Given the description of an element on the screen output the (x, y) to click on. 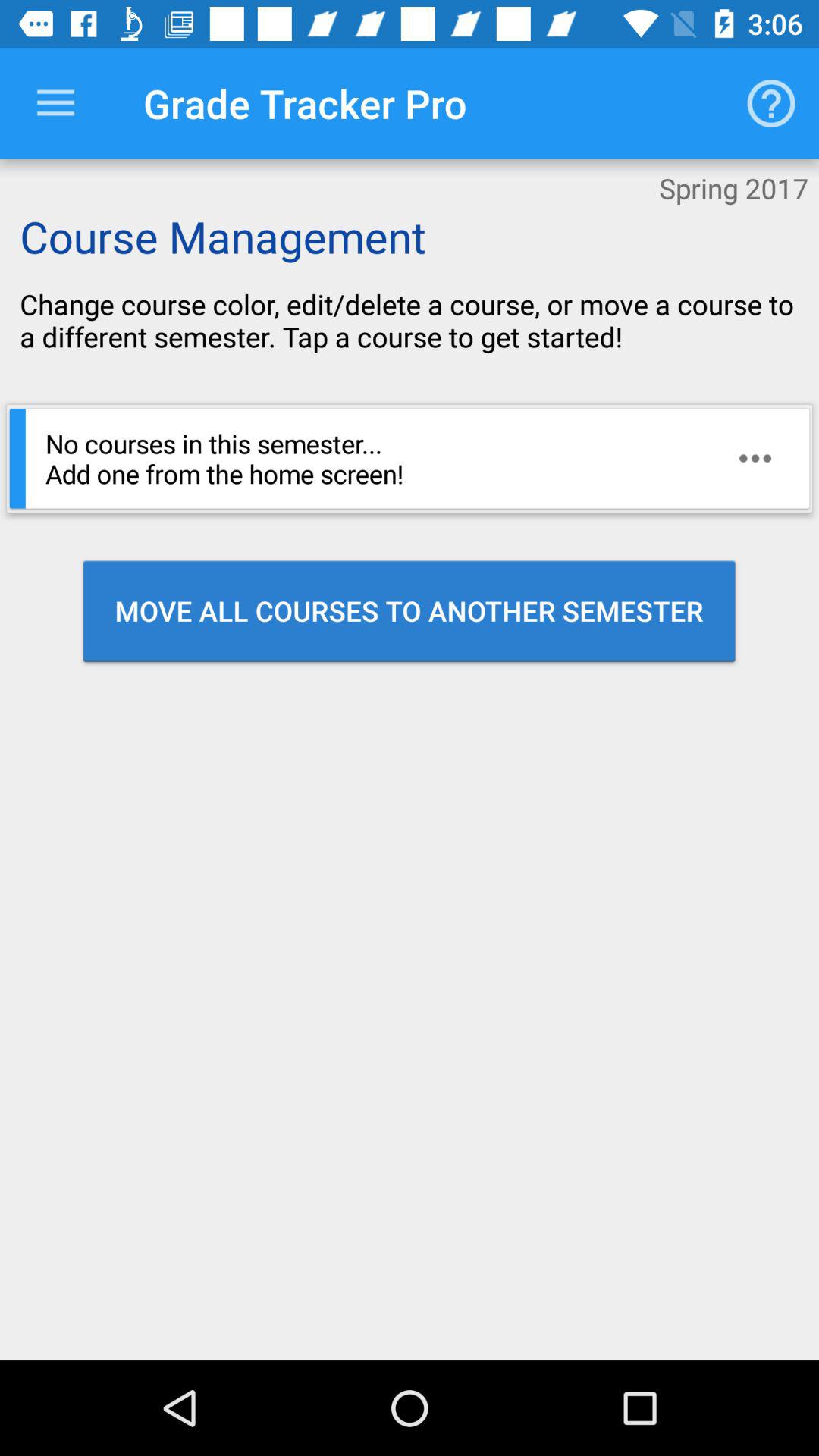
open icon below no courses in (409, 610)
